Given the description of an element on the screen output the (x, y) to click on. 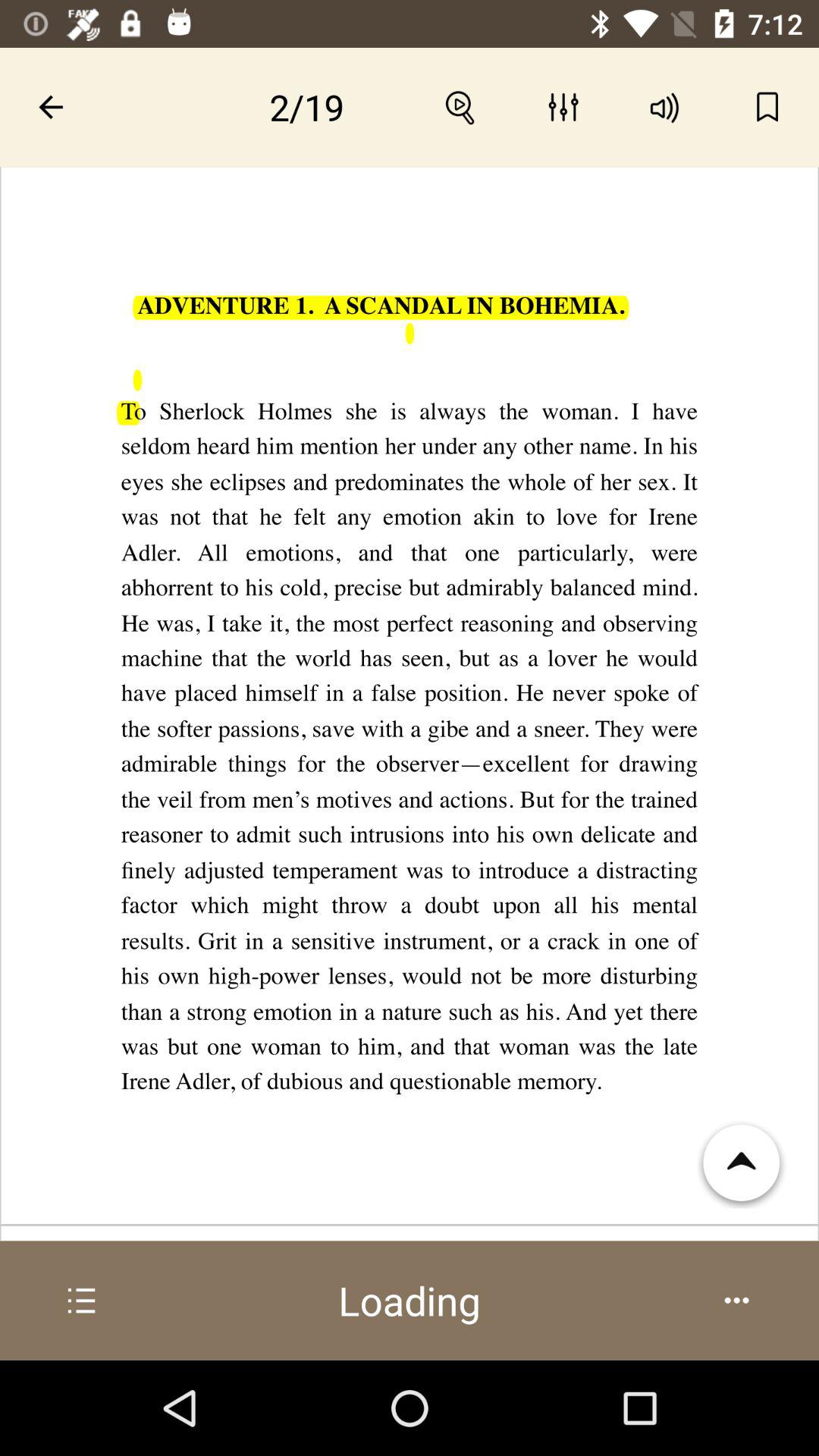
display chapter information (81, 1300)
